Given the description of an element on the screen output the (x, y) to click on. 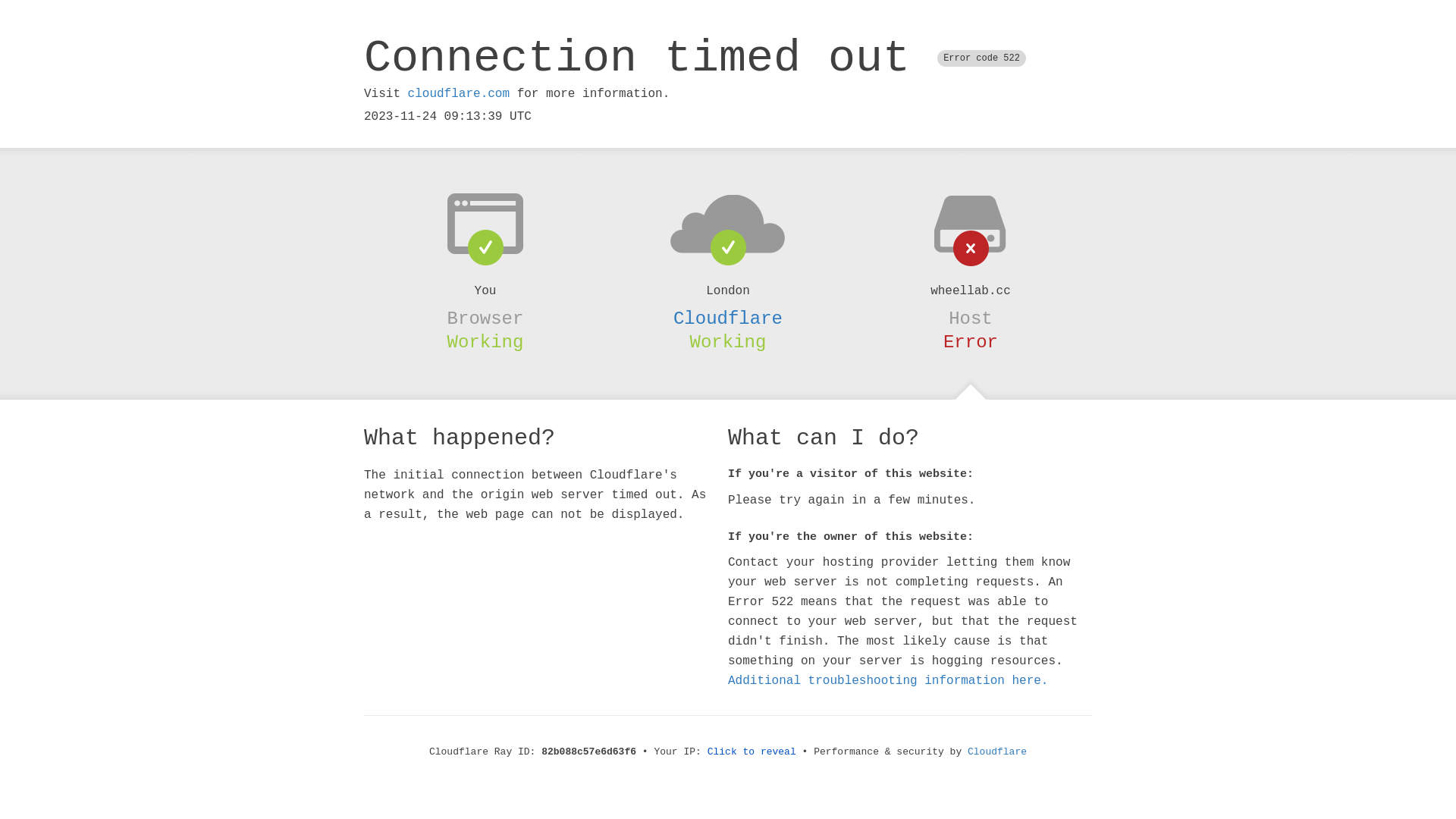
cloudflare.com Element type: text (458, 93)
Cloudflare Element type: text (996, 751)
Cloudflare Element type: text (727, 318)
Click to reveal Element type: text (751, 751)
Additional troubleshooting information here. Element type: text (888, 680)
